Given the description of an element on the screen output the (x, y) to click on. 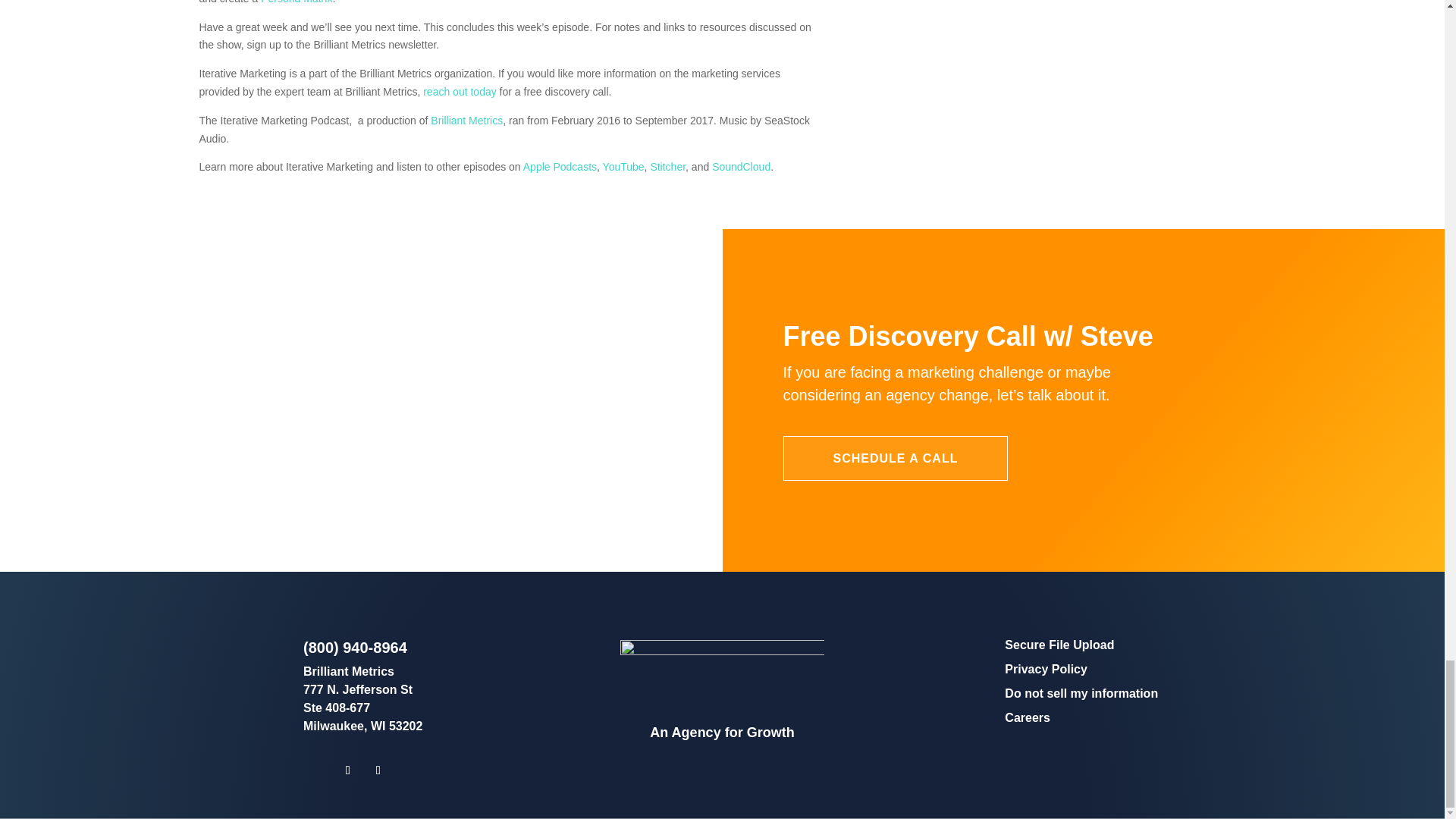
Follow on  (521, 454)
Follow on  (435, 454)
Follow on LinkedIn (347, 770)
Follow on LinkedIn (478, 454)
Follow on Youtube (378, 770)
